Given the description of an element on the screen output the (x, y) to click on. 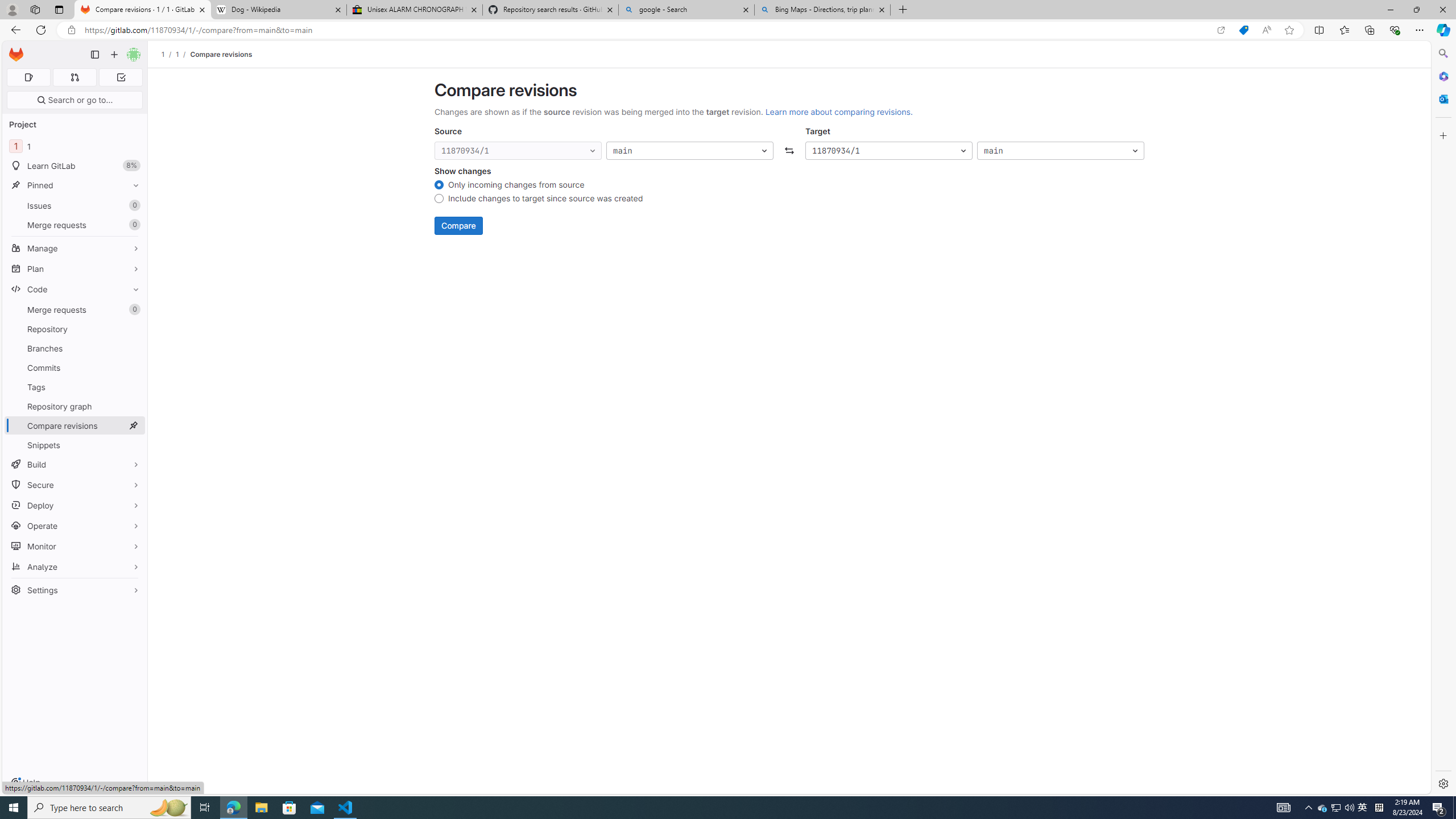
Pin Repository (132, 328)
Learn more about comparing revisions. (838, 111)
Dog - Wikipedia (277, 9)
Open in app (1220, 29)
Merge requests 0 (74, 309)
11 (74, 145)
Operate (74, 525)
Pin Commits (132, 367)
